Given the description of an element on the screen output the (x, y) to click on. 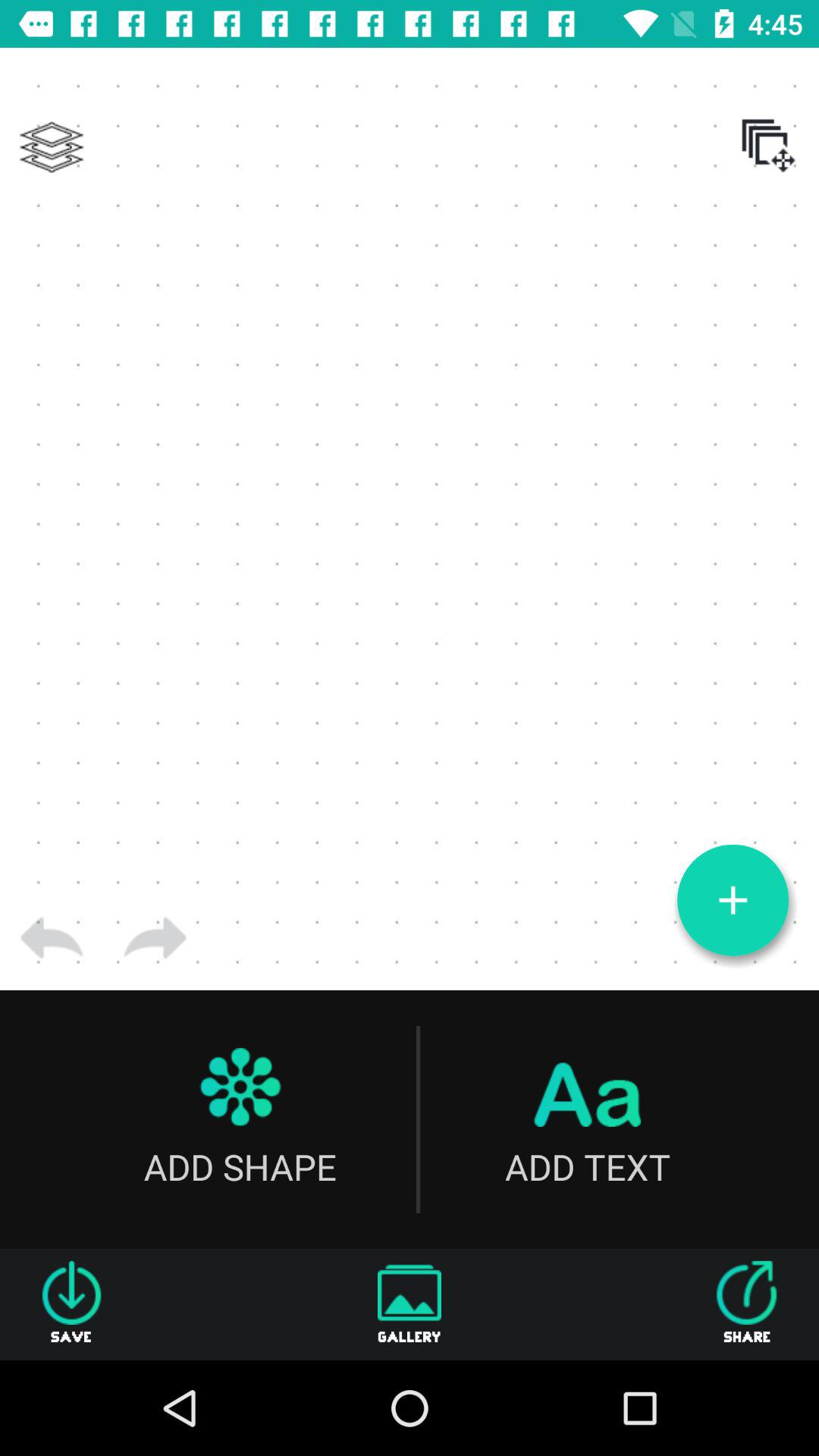
swipe to the add shape icon (239, 1119)
